Given the description of an element on the screen output the (x, y) to click on. 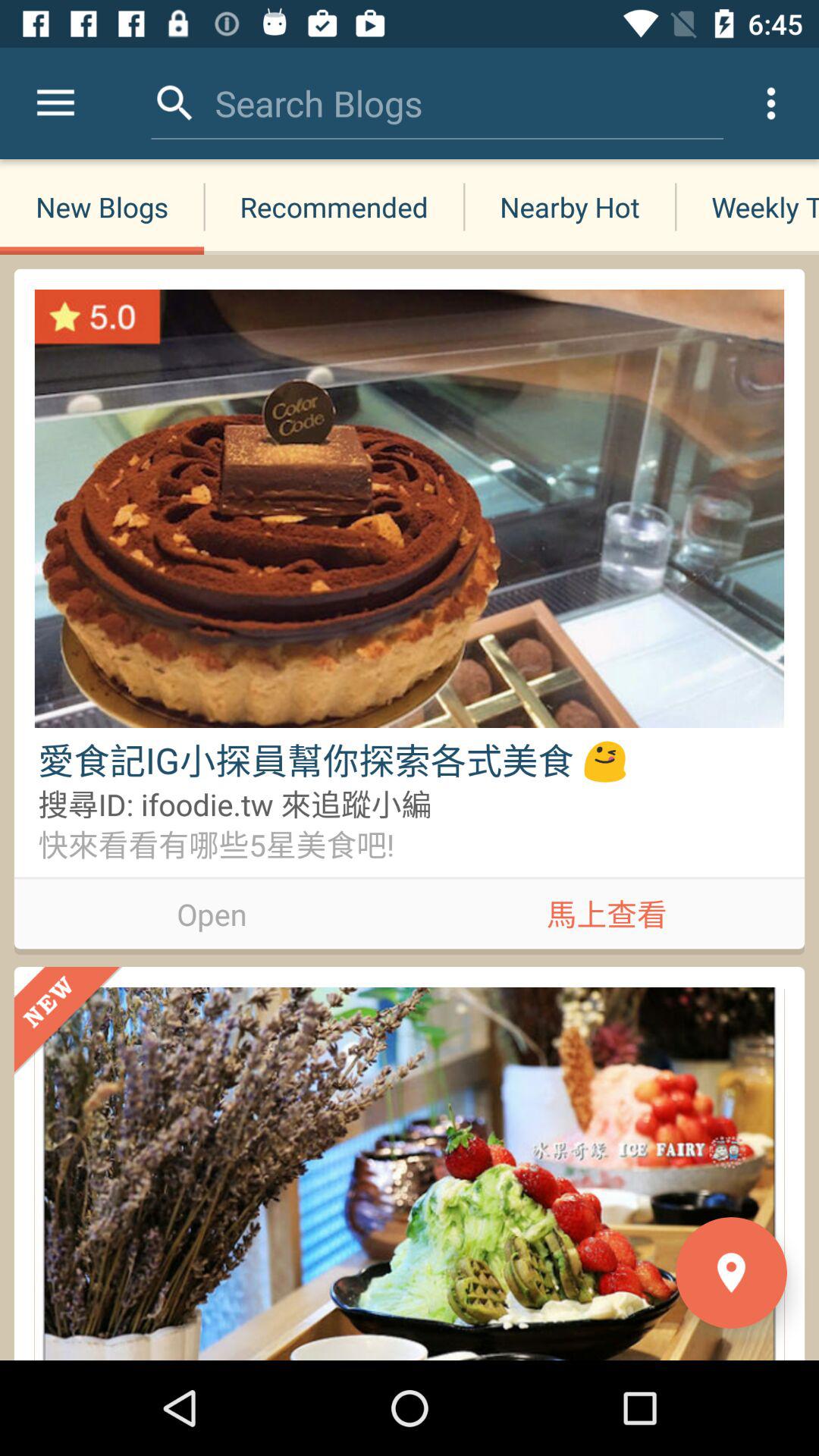
tap item to the left of the recommended icon (102, 206)
